Given the description of an element on the screen output the (x, y) to click on. 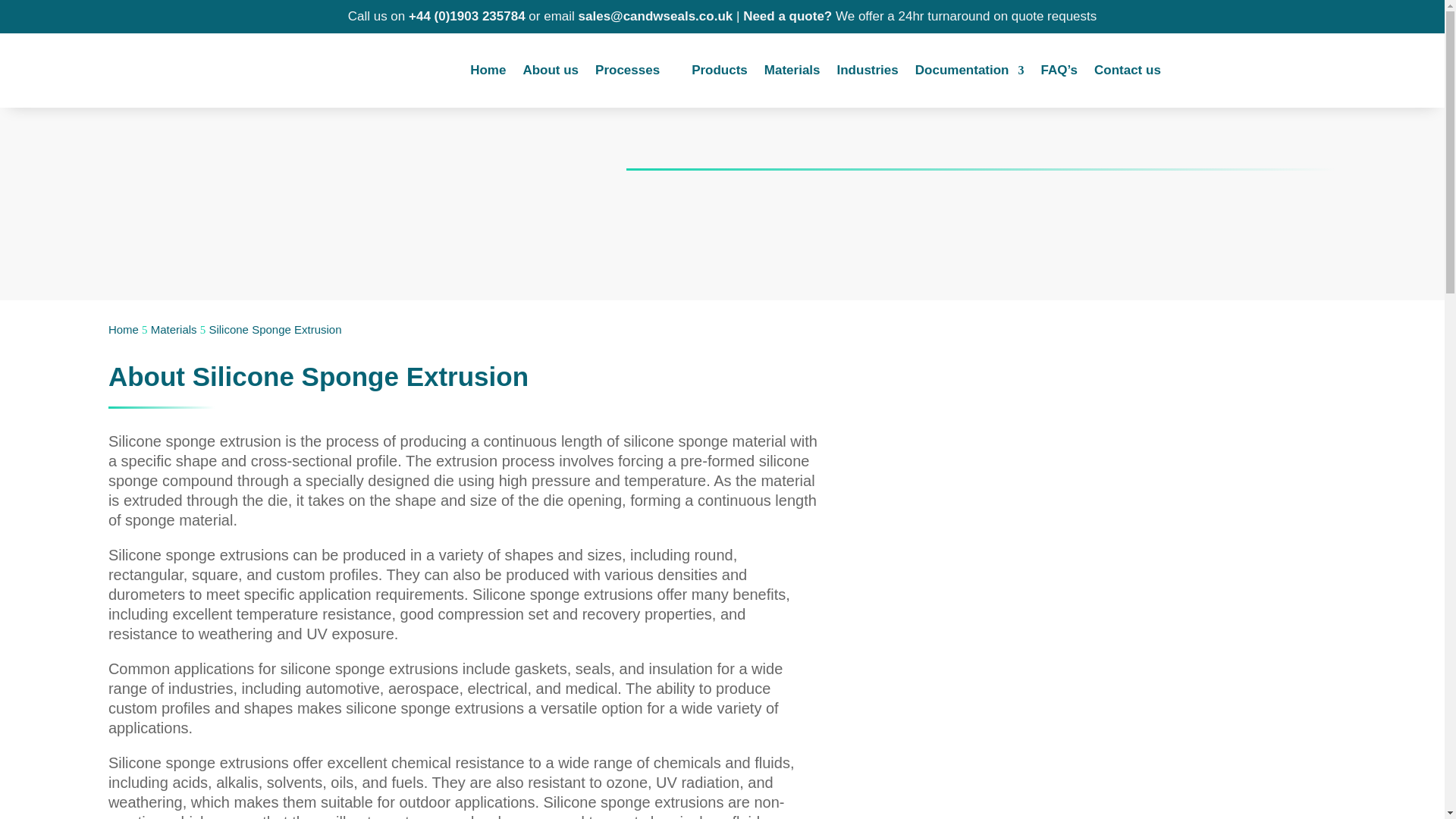
Industries (867, 73)
Products (719, 73)
cwseals-logo (193, 70)
Materials (792, 73)
Processes (635, 73)
Need a quote? (786, 16)
Home (122, 328)
Materials (173, 328)
Documentation (970, 73)
Contact us (1127, 73)
Home (487, 73)
About us (550, 73)
